Given the description of an element on the screen output the (x, y) to click on. 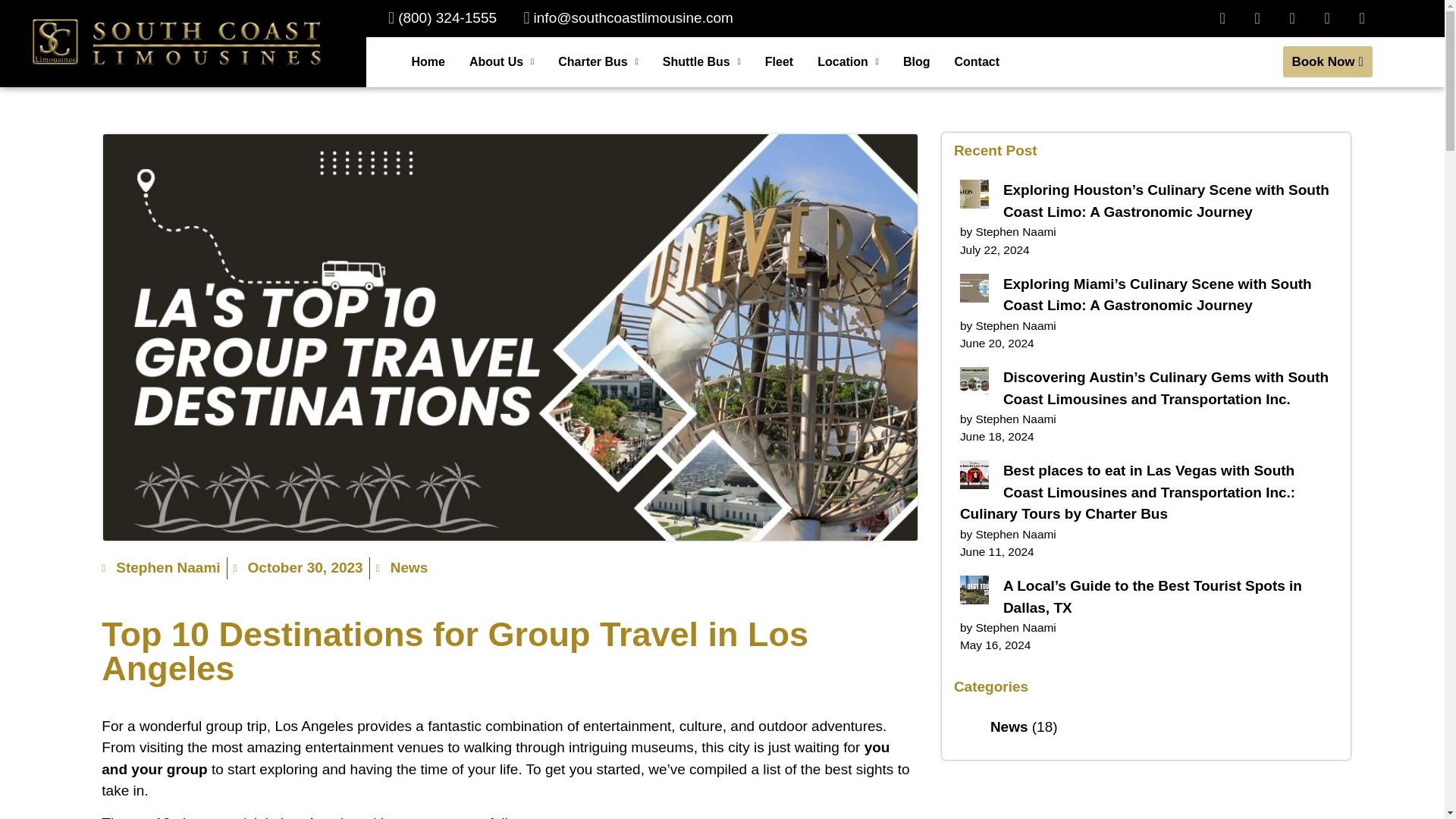
Contact (976, 61)
Charter Bus (598, 61)
Home (427, 61)
Blog (916, 61)
Shuttle Bus (701, 61)
Fleet (778, 61)
About Us (501, 61)
Location (848, 61)
